Given the description of an element on the screen output the (x, y) to click on. 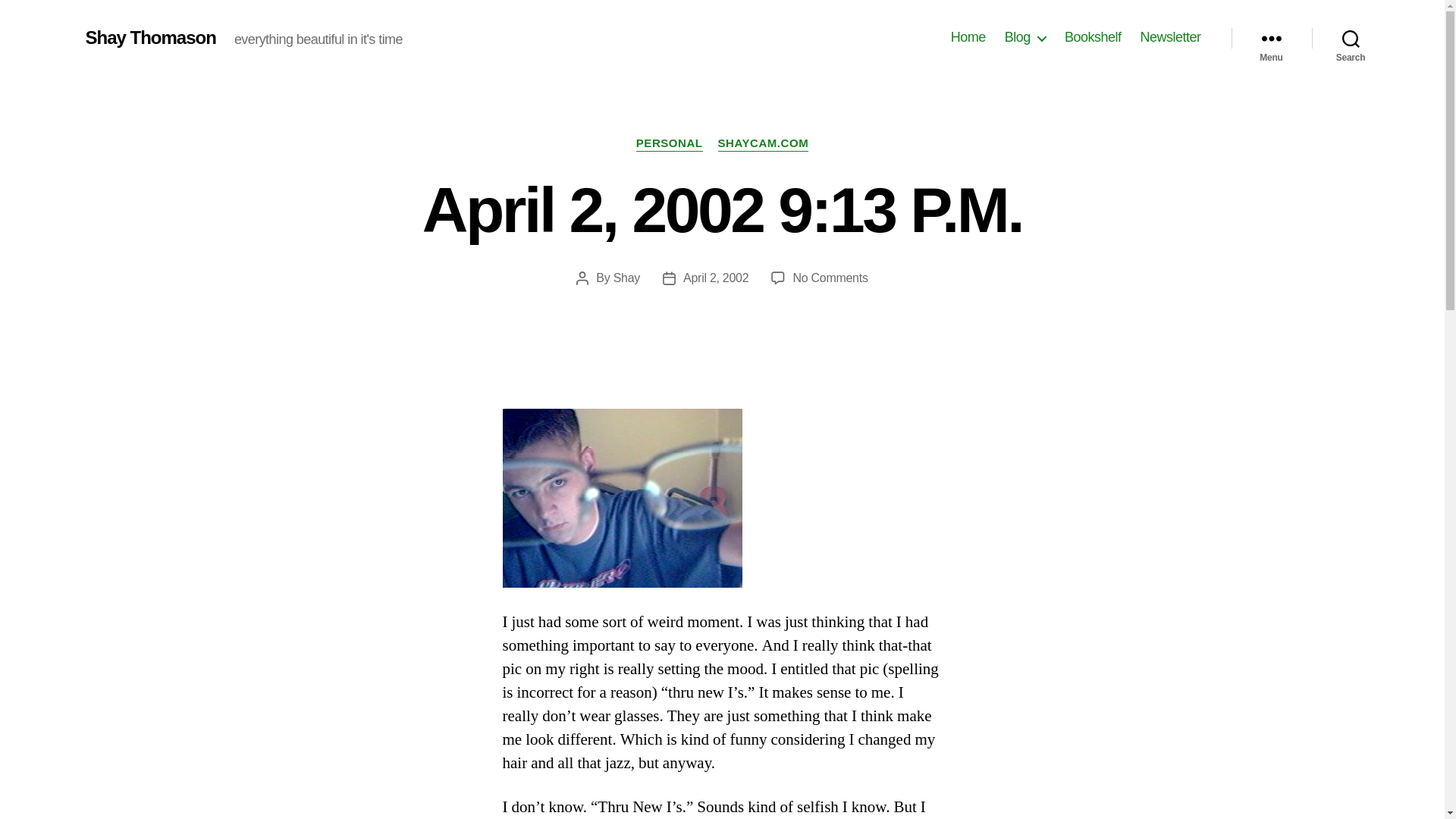
Newsletter (1169, 37)
Bookshelf (1092, 37)
SHAYCAM.COM (763, 143)
PERSONAL (669, 143)
Home (967, 37)
Blog (1024, 37)
Shay (626, 277)
Search (1350, 37)
April 2, 2002 (715, 277)
Shay Thomason (149, 37)
Menu (829, 277)
